Given the description of an element on the screen output the (x, y) to click on. 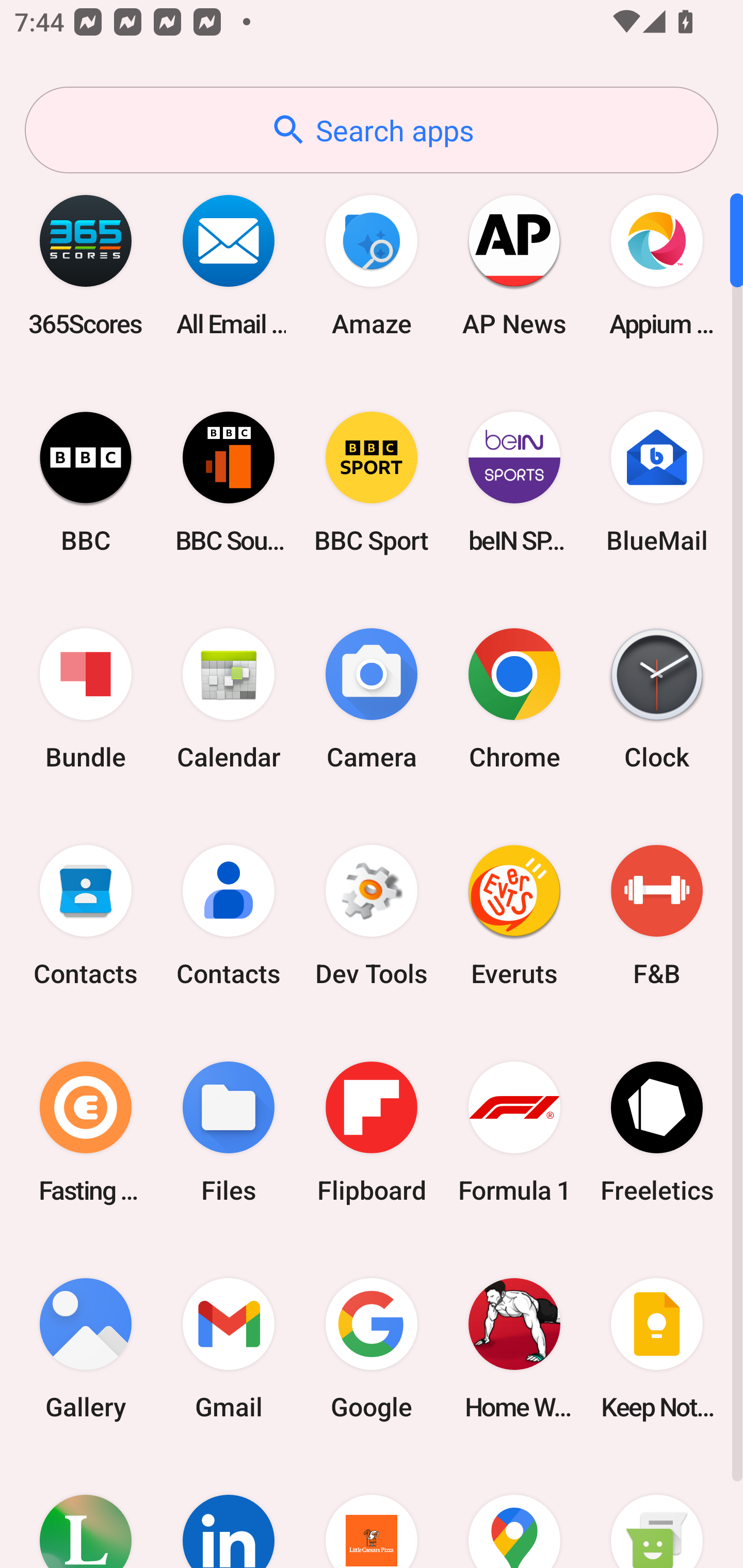
  Search apps (371, 130)
365Scores (85, 264)
All Email Connect (228, 264)
Amaze (371, 264)
AP News (514, 264)
Appium Settings (656, 264)
BBC (85, 482)
BBC Sounds (228, 482)
BBC Sport (371, 482)
beIN SPORTS (514, 482)
BlueMail (656, 482)
Bundle (85, 699)
Calendar (228, 699)
Camera (371, 699)
Chrome (514, 699)
Clock (656, 699)
Contacts (85, 915)
Contacts (228, 915)
Dev Tools (371, 915)
Everuts (514, 915)
F&B (656, 915)
Fasting Coach (85, 1131)
Files (228, 1131)
Flipboard (371, 1131)
Formula 1 (514, 1131)
Freeletics (656, 1131)
Gallery (85, 1348)
Gmail (228, 1348)
Google (371, 1348)
Home Workout (514, 1348)
Keep Notes (656, 1348)
Lifesum (85, 1512)
LinkedIn (228, 1512)
Little Caesars Pizza (371, 1512)
Maps (514, 1512)
Messaging (656, 1512)
